Given the description of an element on the screen output the (x, y) to click on. 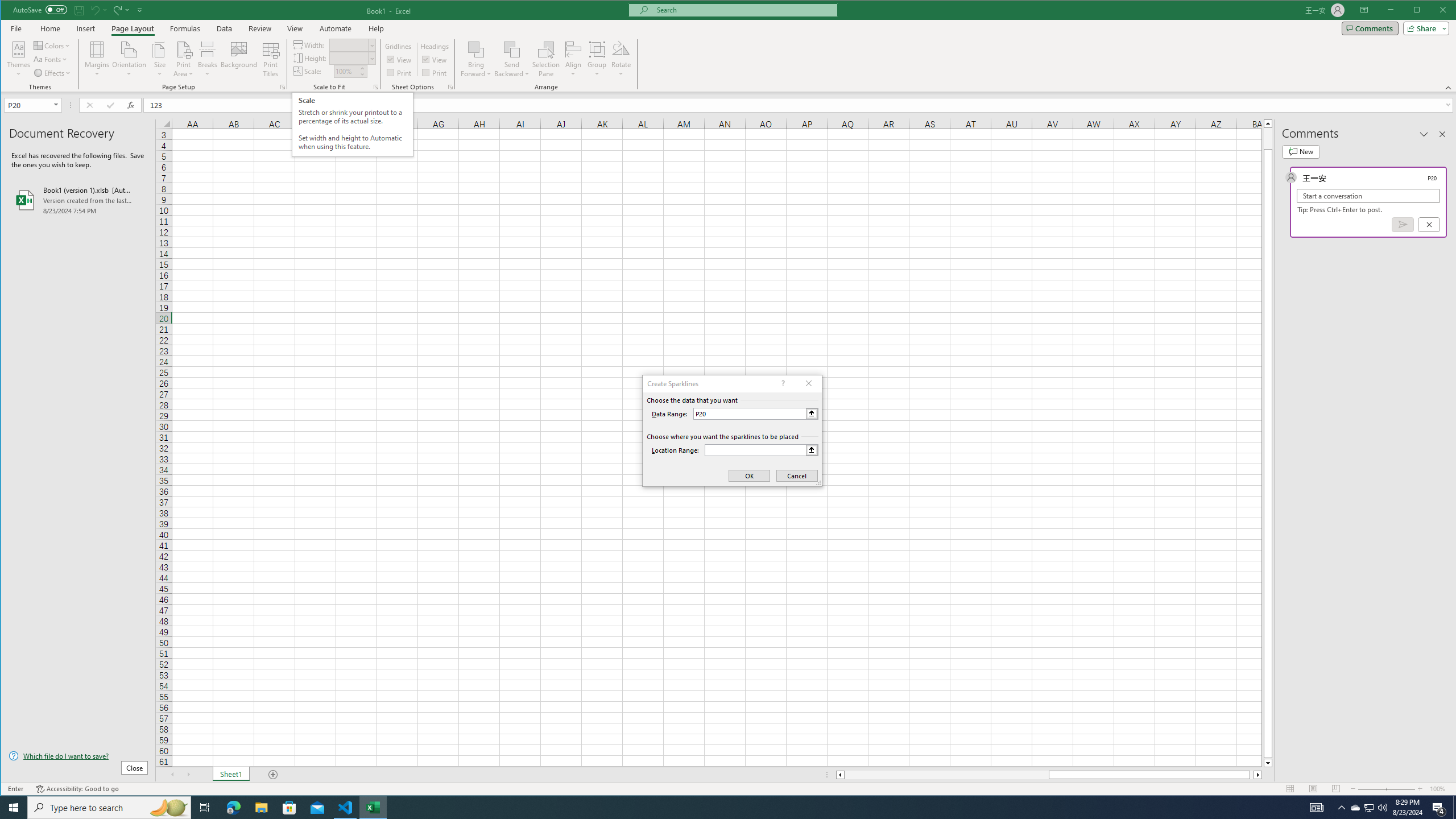
Which file do I want to save? (78, 755)
Review (259, 28)
Class: NetUIScrollBar (1048, 774)
Fonts (51, 59)
Page left (946, 774)
Rotate (620, 59)
Open (56, 105)
Send Backward (512, 59)
Bring Forward (476, 59)
Themes (18, 59)
